Given the description of an element on the screen output the (x, y) to click on. 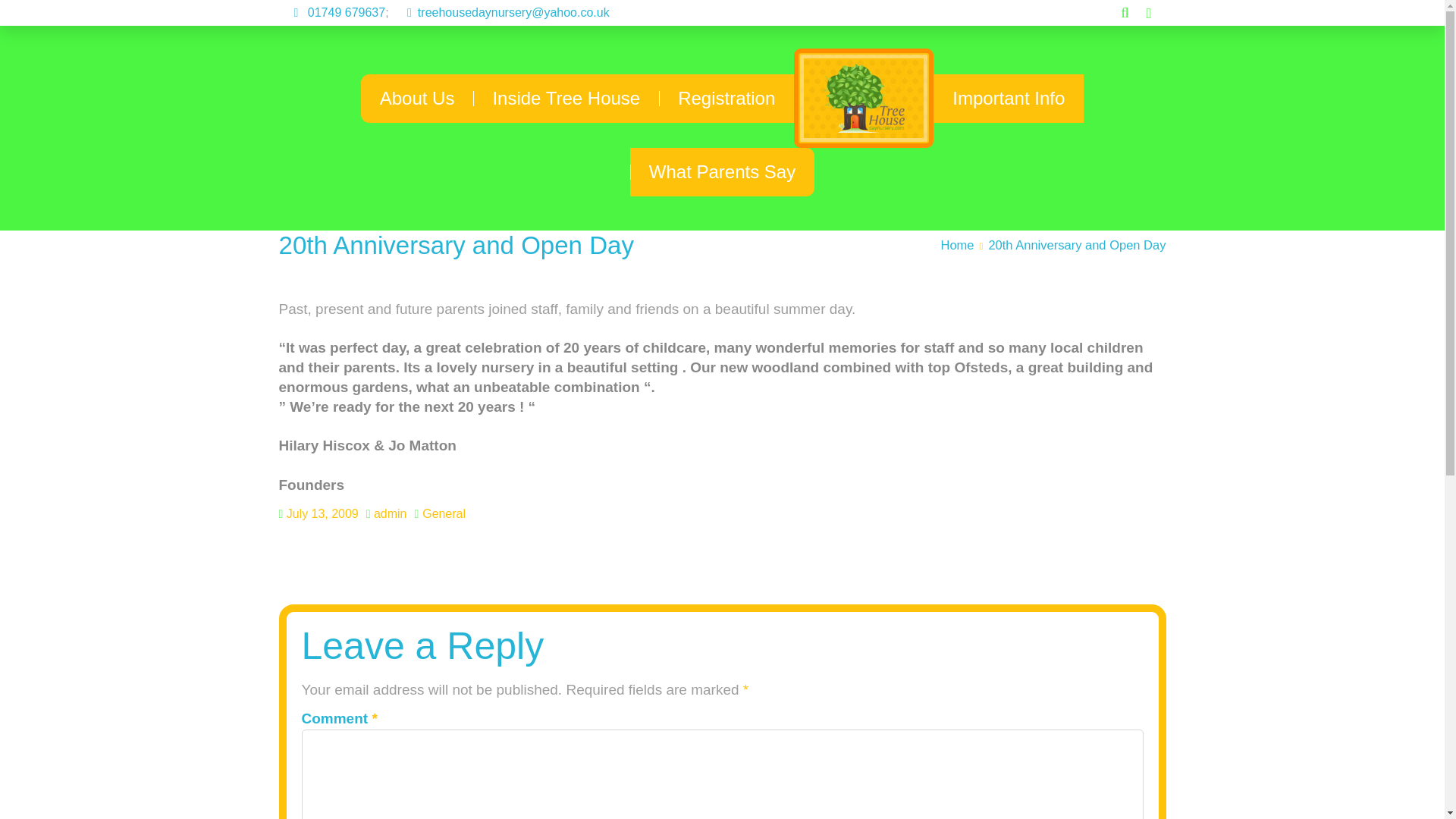
About Us (417, 98)
Registration (726, 98)
What Parents Say (721, 172)
Home (957, 245)
Important Info (1008, 98)
Inside Tree House (566, 98)
01749 679637 (332, 12)
General (443, 513)
Twitter (1145, 37)
Search (25, 13)
